Given the description of an element on the screen output the (x, y) to click on. 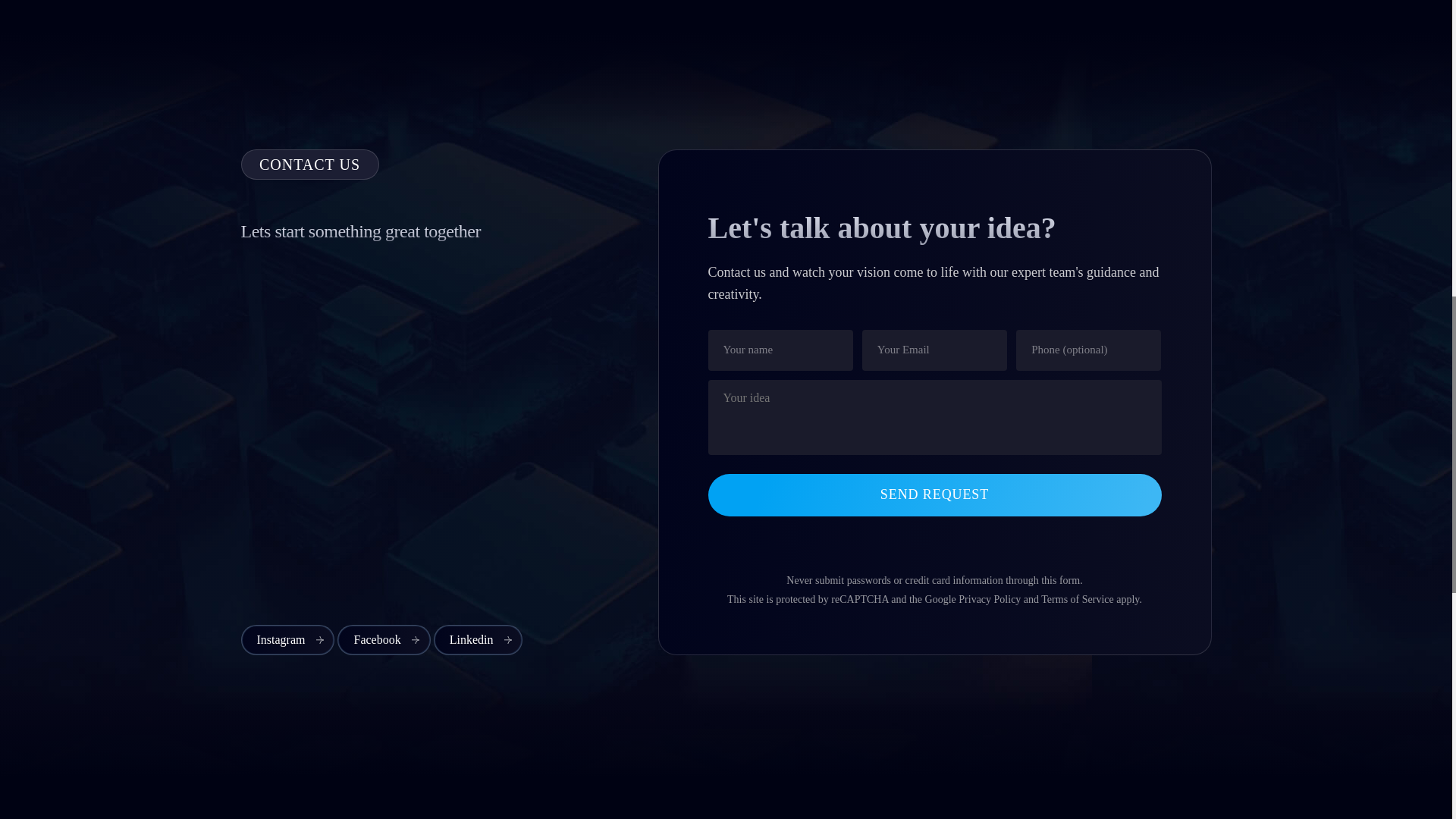
Instagram (287, 639)
Send Request (934, 495)
Facebook (383, 639)
Linkedin (477, 639)
Send Request (934, 495)
